Given the description of an element on the screen output the (x, y) to click on. 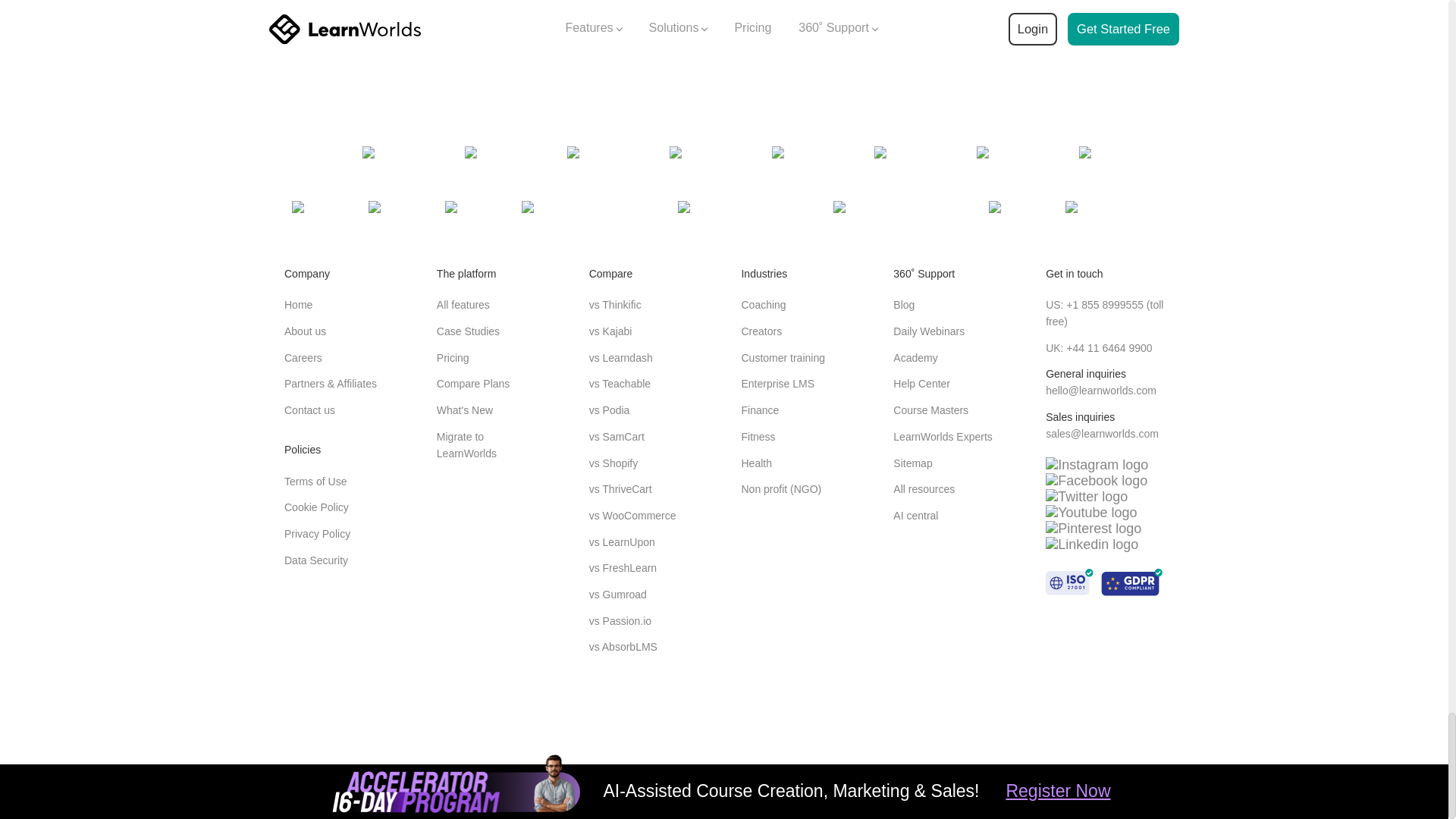
send email to LearnWorlds (1100, 390)
send email to LearnWorlds (1101, 433)
